Given the description of an element on the screen output the (x, y) to click on. 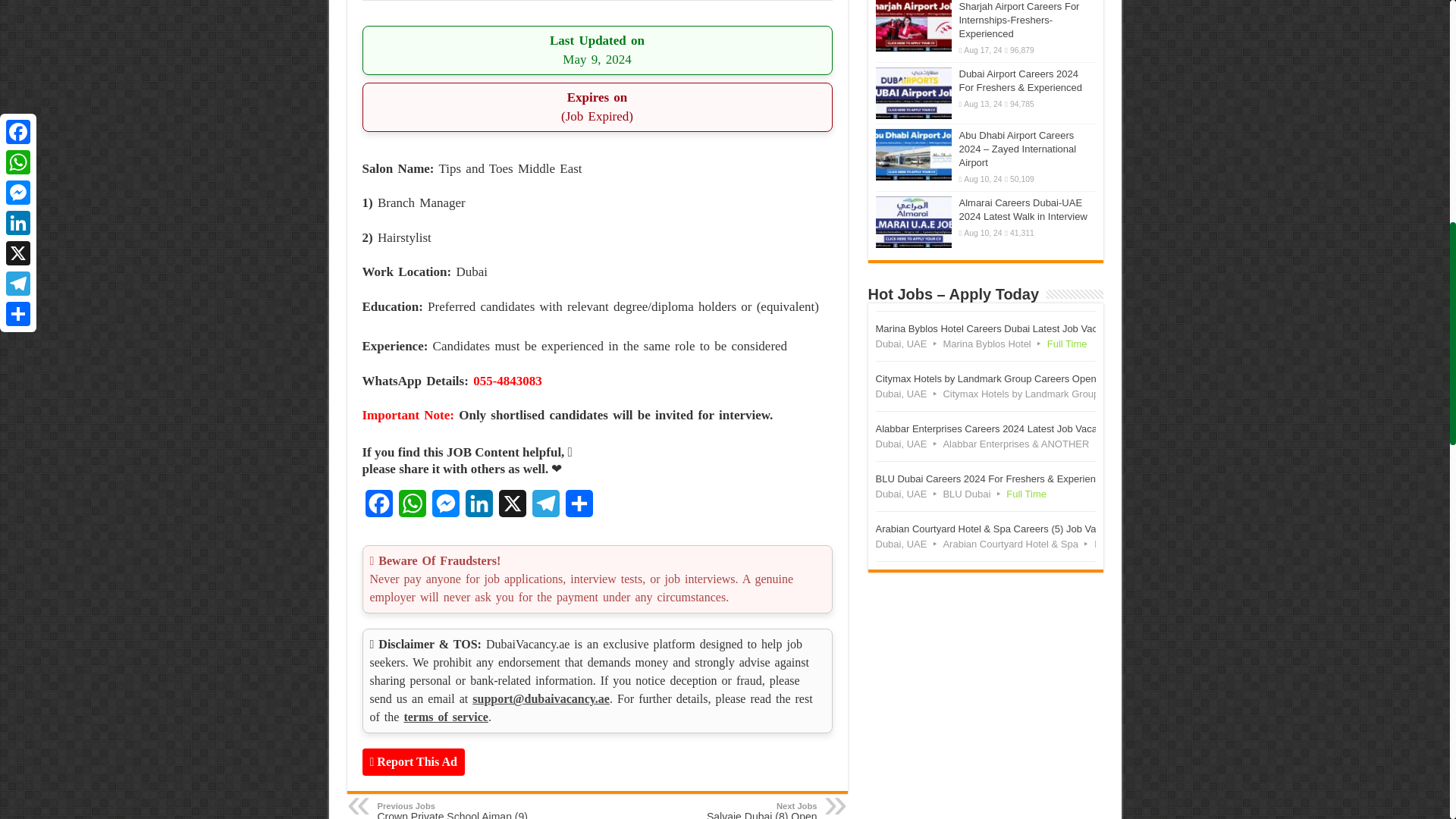
LinkedIn (479, 508)
terms of service (445, 716)
Facebook (379, 508)
Report This Ad (413, 761)
Telegram (545, 508)
Messenger (446, 508)
X (512, 508)
WhatsApp (412, 508)
